Given the description of an element on the screen output the (x, y) to click on. 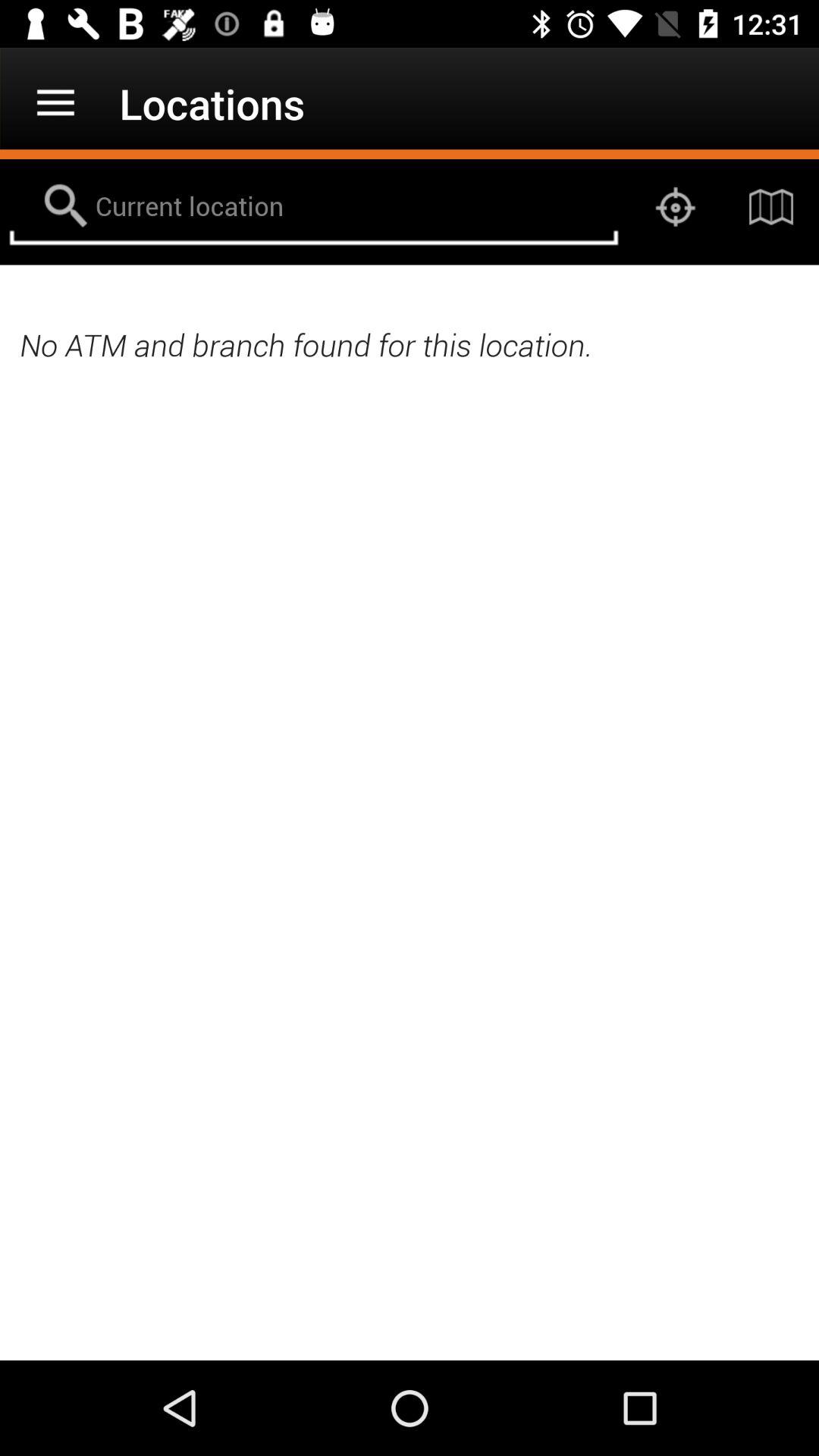
search the any one (313, 206)
